Given the description of an element on the screen output the (x, y) to click on. 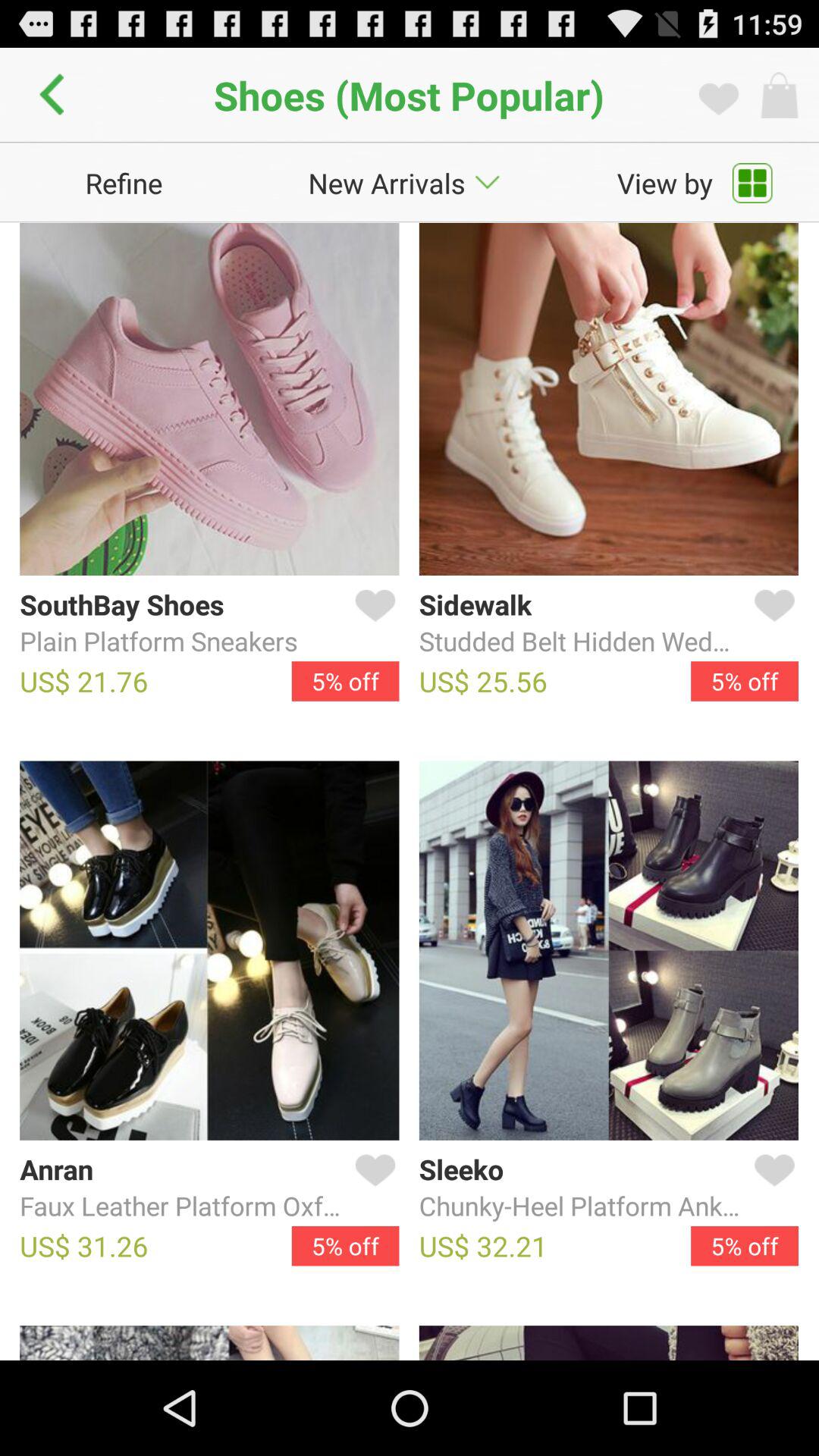
move back (56, 94)
